Given the description of an element on the screen output the (x, y) to click on. 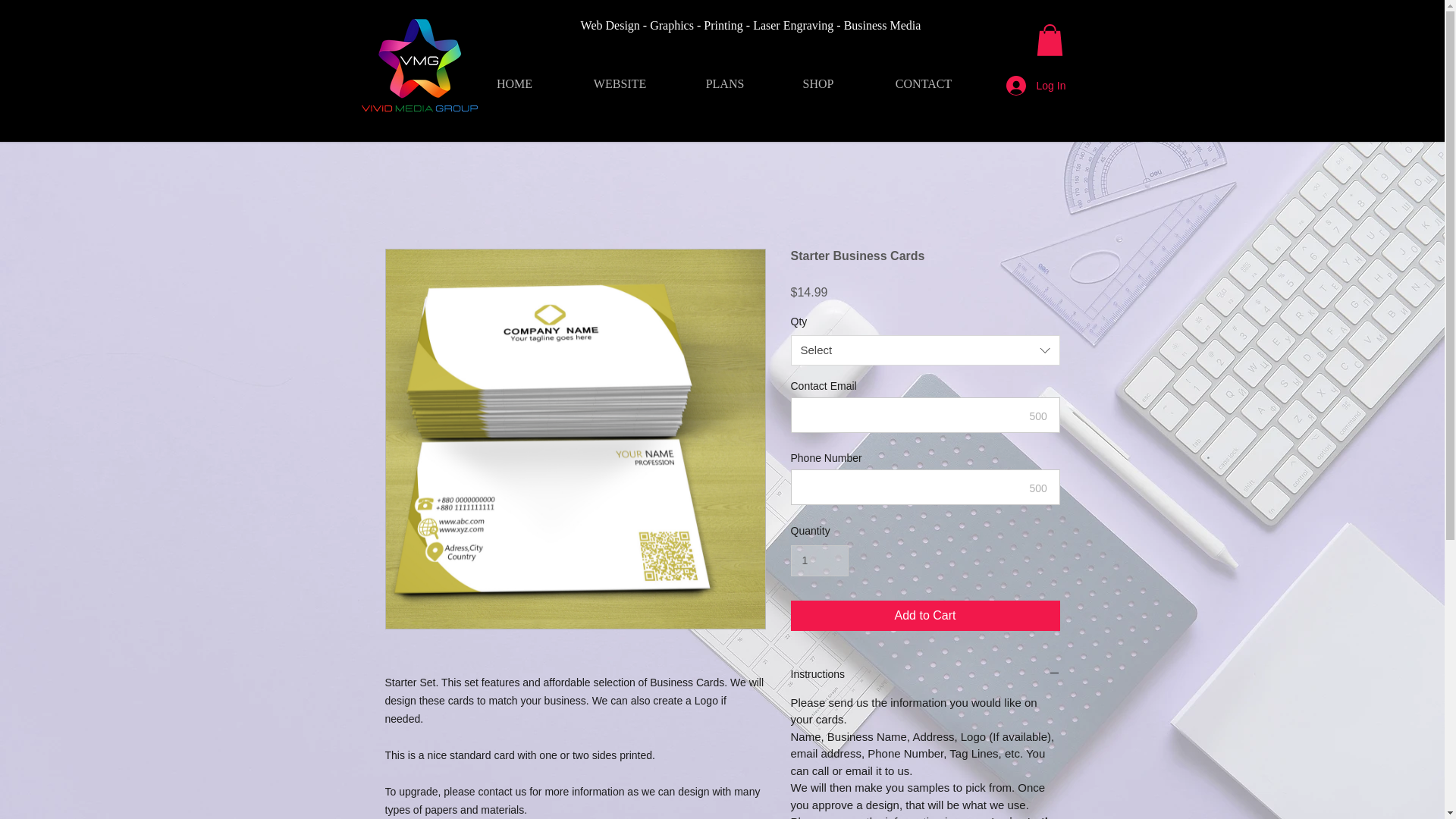
Log In (1025, 85)
PLANS (725, 83)
Instructions (924, 674)
SHOP (818, 83)
Add to Cart (924, 615)
1 (818, 560)
WEBSITE (619, 83)
CONTACT (923, 83)
HOME (513, 83)
Select (924, 349)
